Given the description of an element on the screen output the (x, y) to click on. 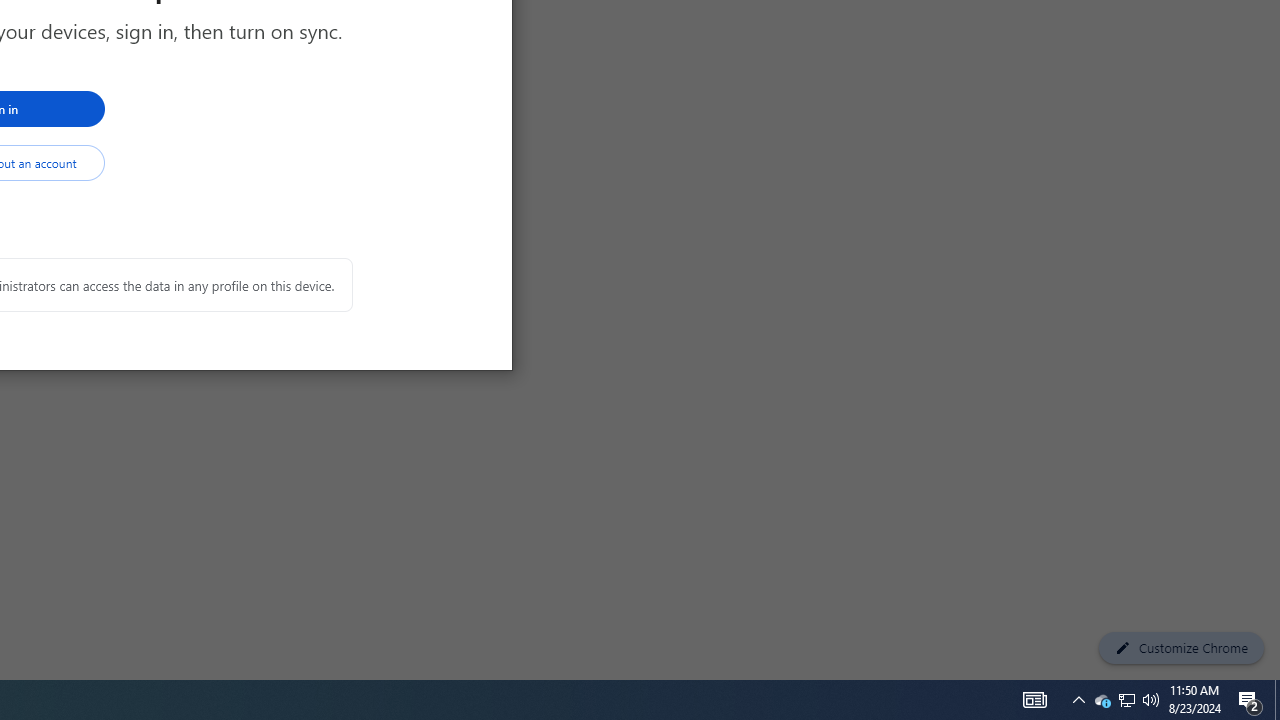
Q2790: 100% (1151, 699)
User Promoted Notification Area (1126, 699)
Show desktop (1277, 699)
Notification Chevron (1078, 699)
Action Center, 2 new notifications (1102, 699)
AutomationID: 4105 (1250, 699)
